Given the description of an element on the screen output the (x, y) to click on. 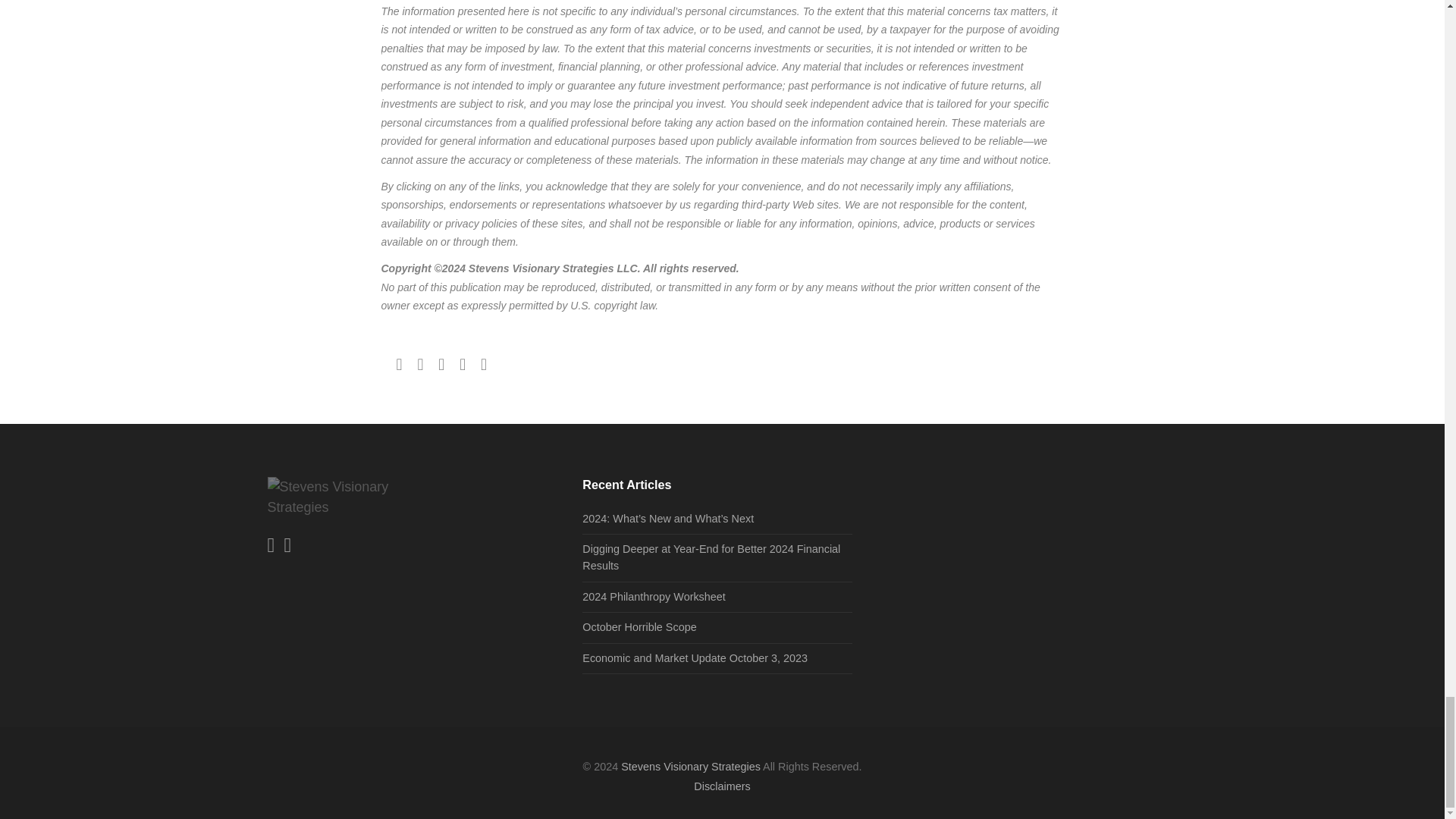
Disclaimers (721, 786)
2024 Philanthropy Worksheet (653, 596)
Economic and Market Update October 3, 2023 (695, 657)
Digging Deeper at Year-End for Better 2024 Financial Results (711, 556)
October Horrible Scope (638, 626)
Stevens Visionary Strategies (690, 766)
